Given the description of an element on the screen output the (x, y) to click on. 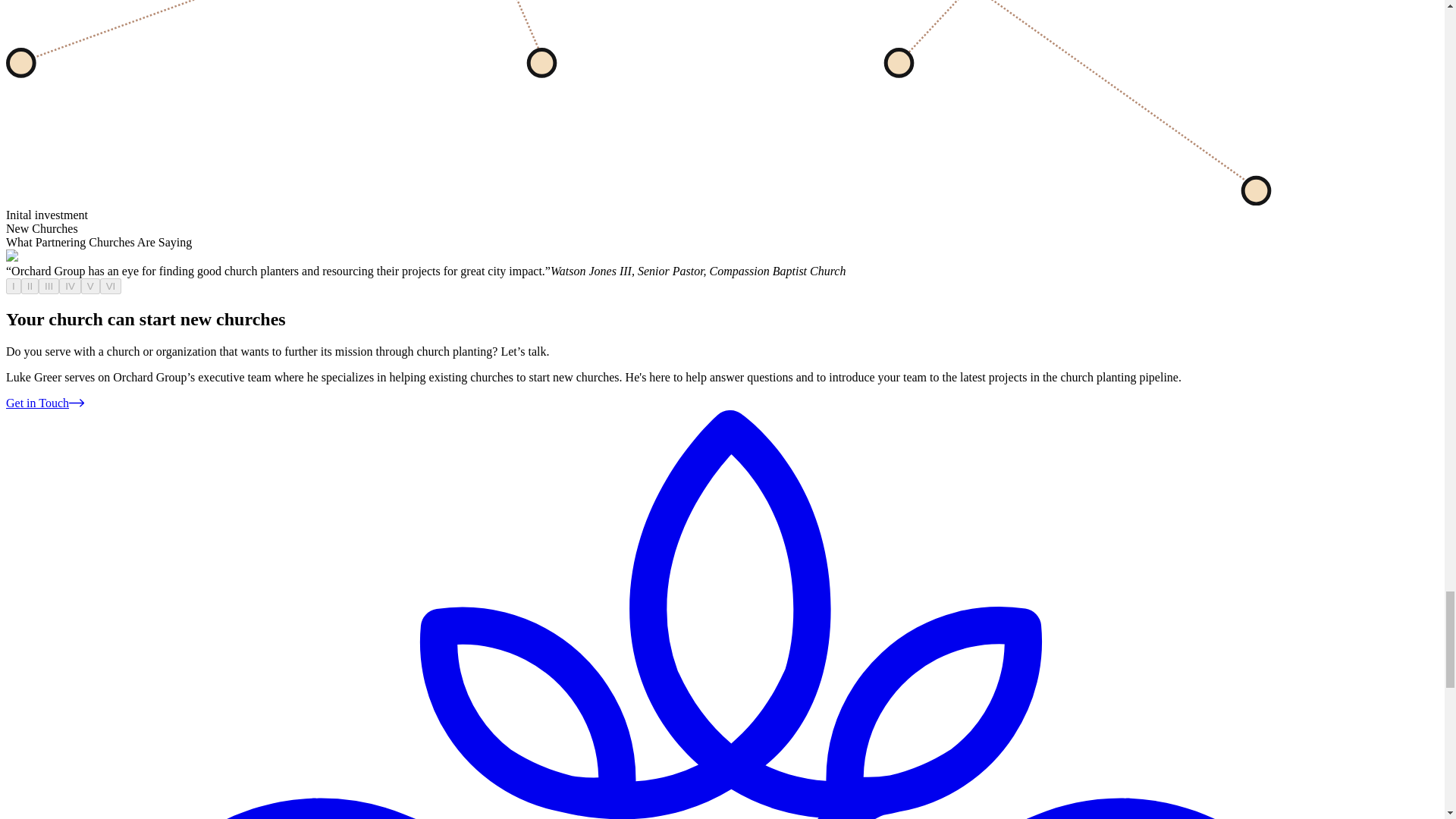
V (90, 286)
I (13, 286)
Get in Touch (44, 402)
IV (70, 286)
II (30, 286)
VI (111, 286)
III (49, 286)
